Given the description of an element on the screen output the (x, y) to click on. 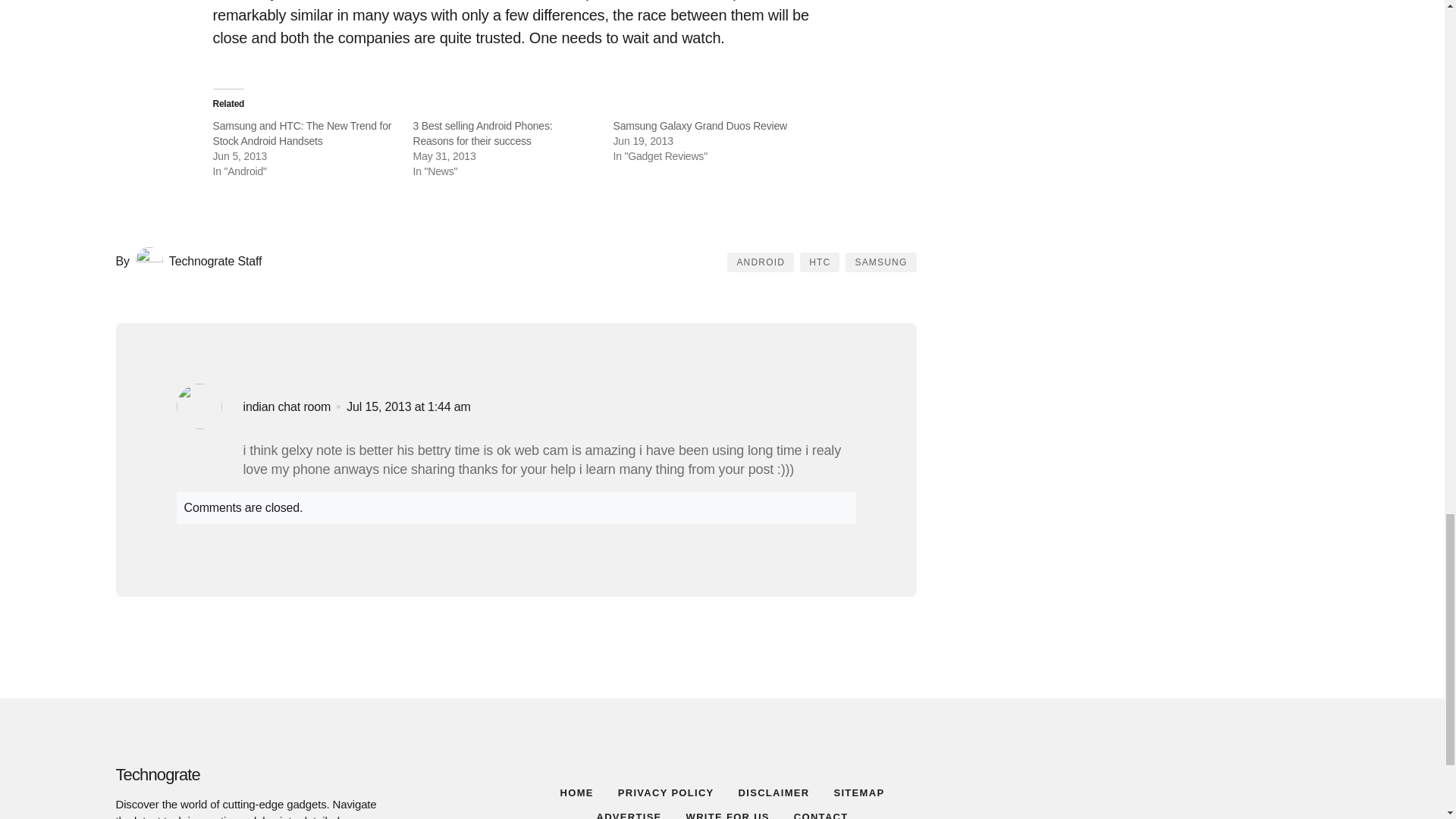
3 Best selling Android Phones: Reasons for their success (481, 133)
Samsung Galaxy Grand Duos Review (699, 125)
Samsung and HTC:  The New Trend for Stock Android Handsets (301, 133)
